Given the description of an element on the screen output the (x, y) to click on. 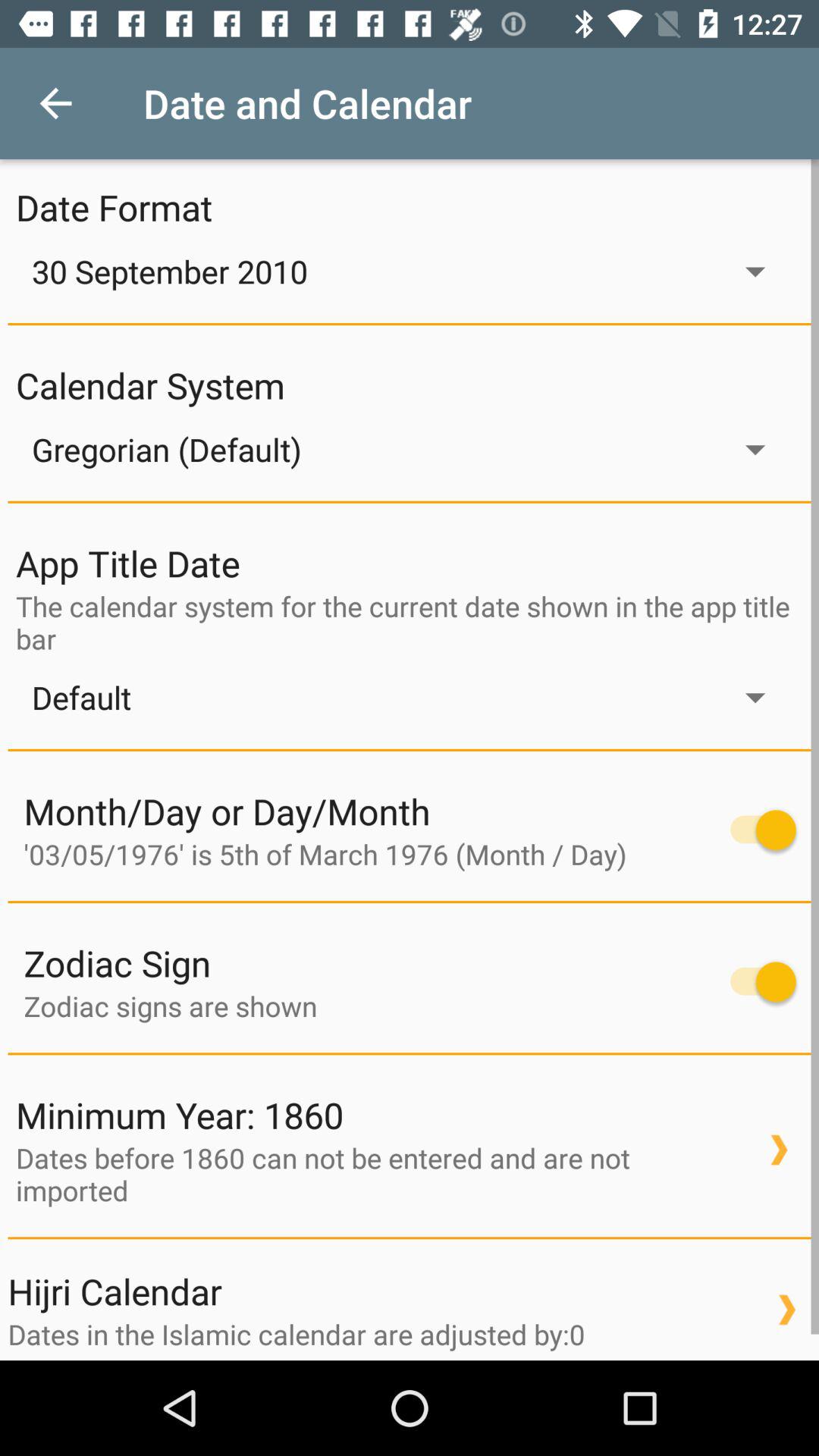
toggle autoplay option (755, 981)
